Given the description of an element on the screen output the (x, y) to click on. 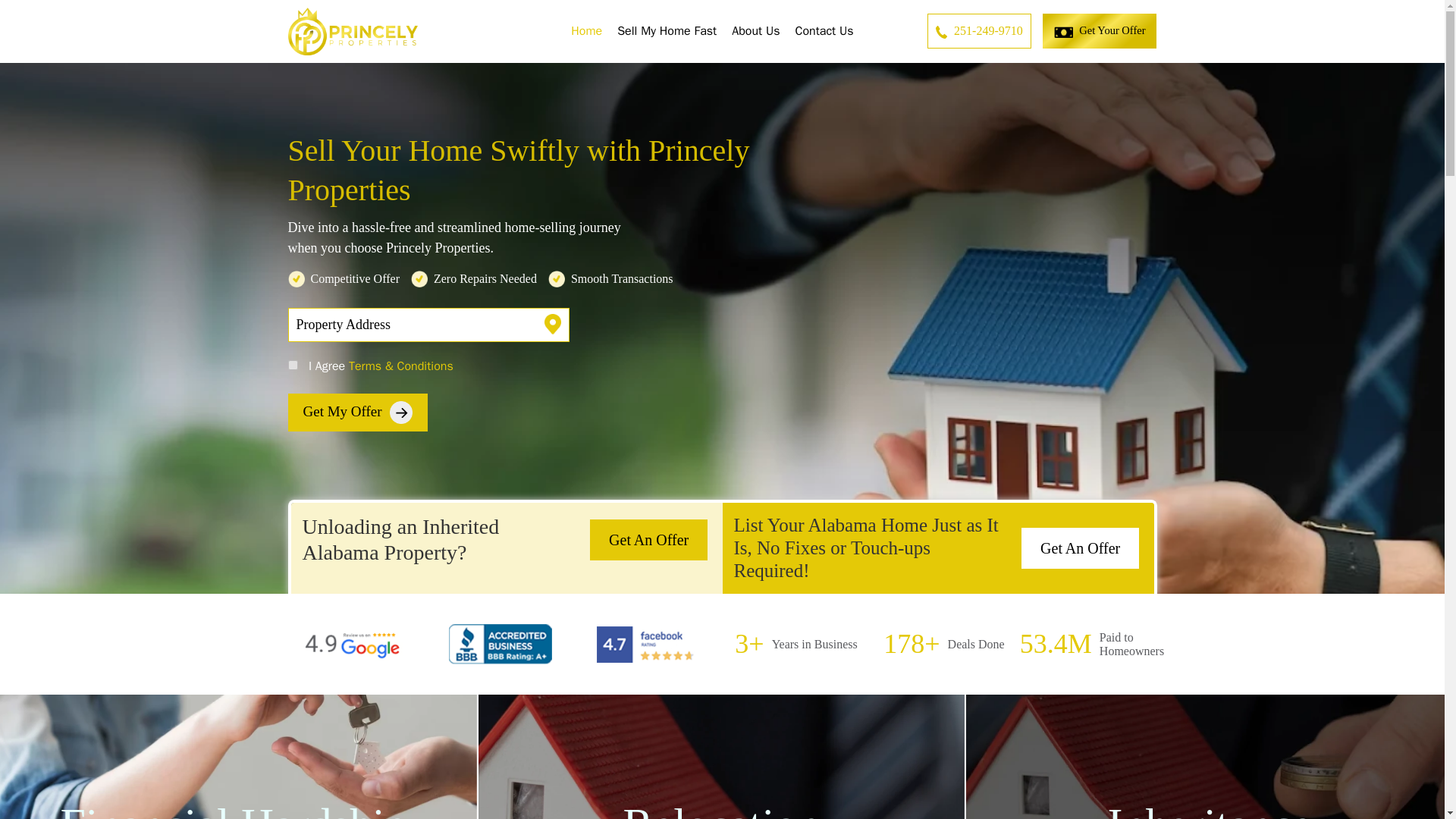
Contact Us (823, 30)
Get My Offer (358, 412)
251-249-9710 (978, 30)
on (293, 365)
Sell My Home Fast (666, 30)
Home (586, 30)
Get An Offer (648, 539)
About Us (755, 30)
Get Your Offer (1099, 30)
Get An Offer (1080, 547)
